Given the description of an element on the screen output the (x, y) to click on. 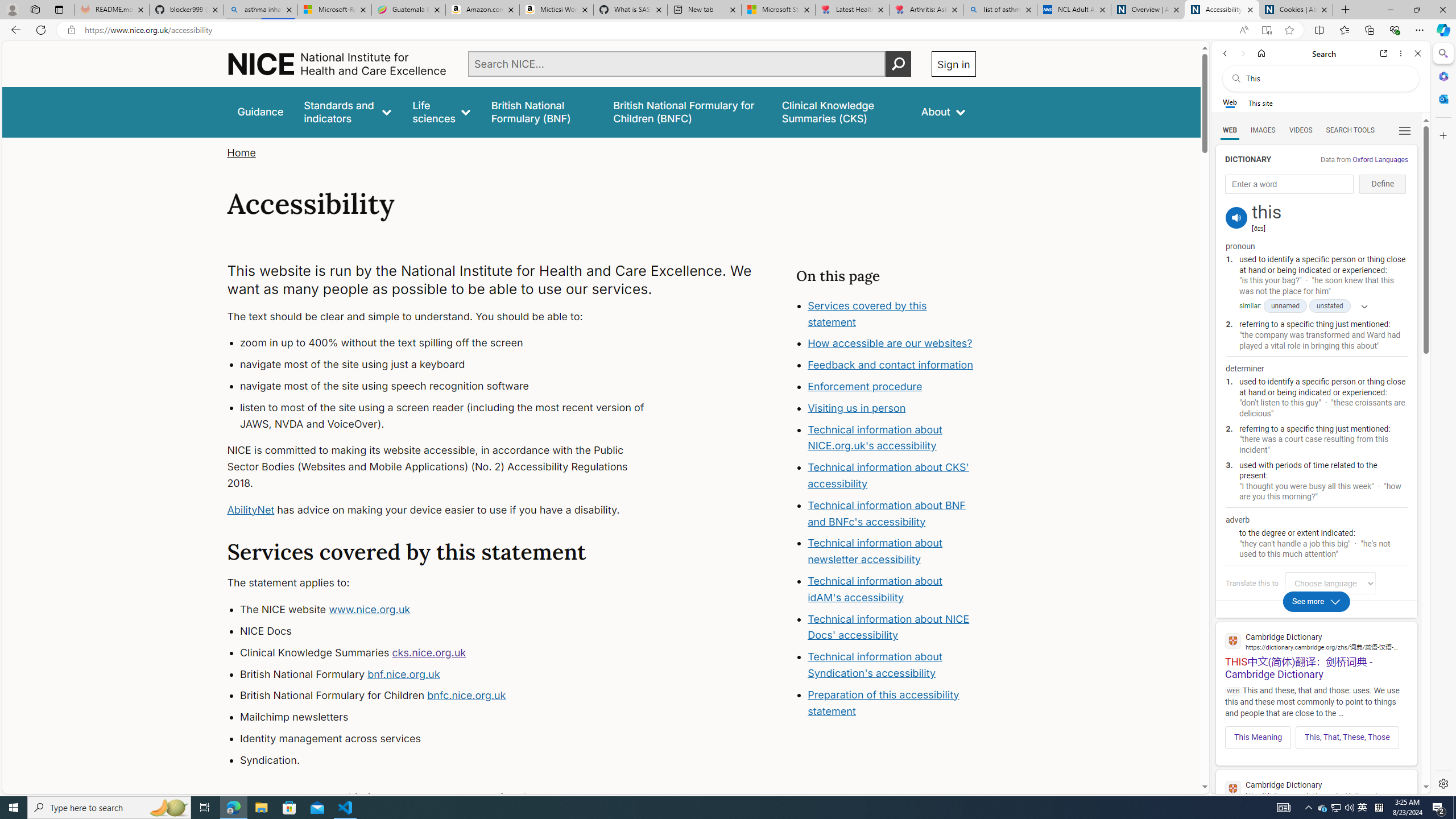
Class: b_serphb (1404, 130)
Services covered by this statement (891, 313)
About (942, 111)
unstated (1329, 305)
This, That, These, Those (1347, 737)
zoom in up to 400% without the text spilling off the screen (452, 343)
Preparation of this accessibility statement (883, 702)
NCL Adult Asthma Inhaler Choice Guideline (1073, 9)
British National Formulary for Children (BNFC) (686, 111)
Accessibility | NICE (1221, 9)
navigate most of the site using just a keyboard (452, 364)
